Given the description of an element on the screen output the (x, y) to click on. 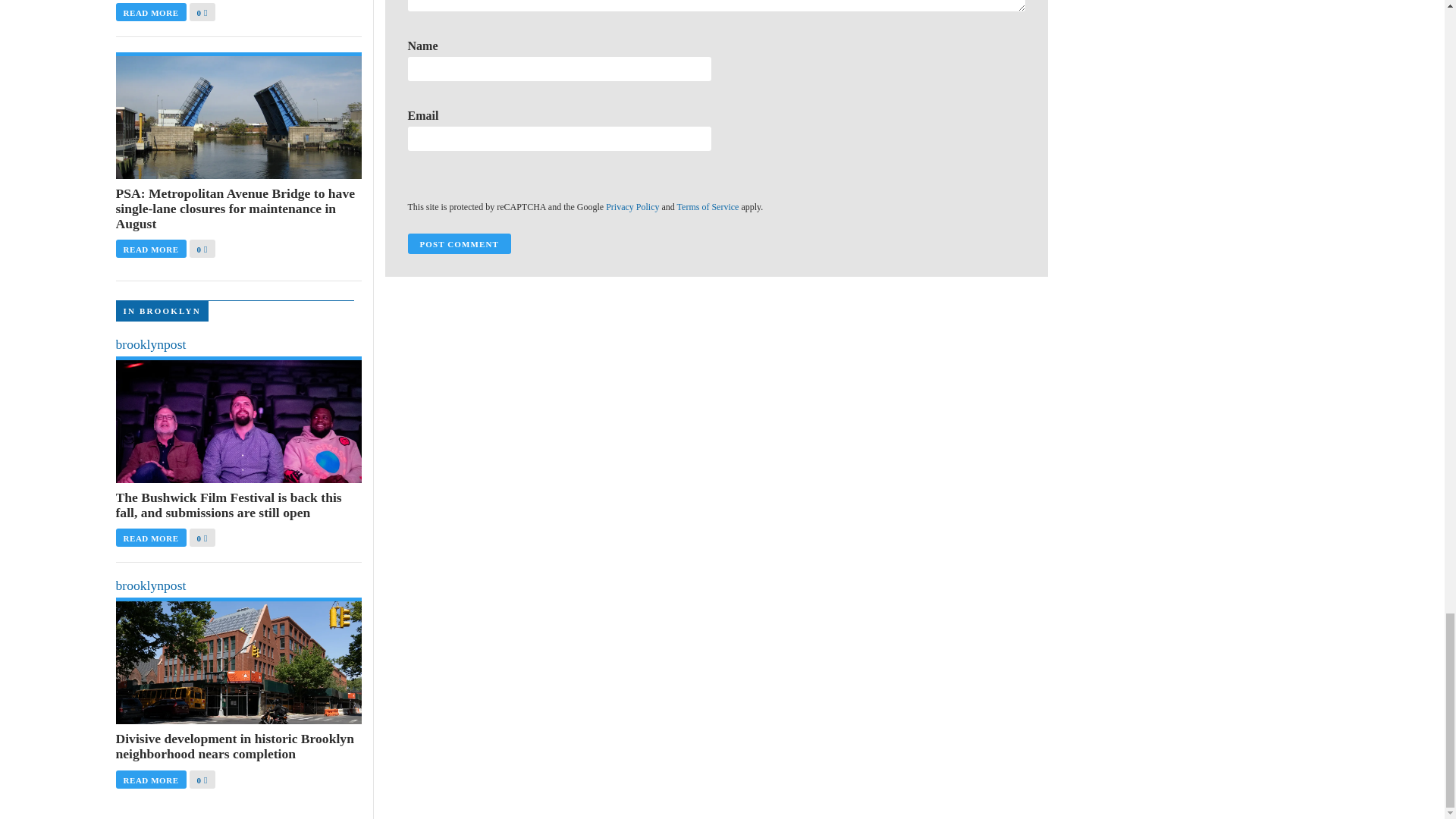
Post Comment (459, 243)
